Given the description of an element on the screen output the (x, y) to click on. 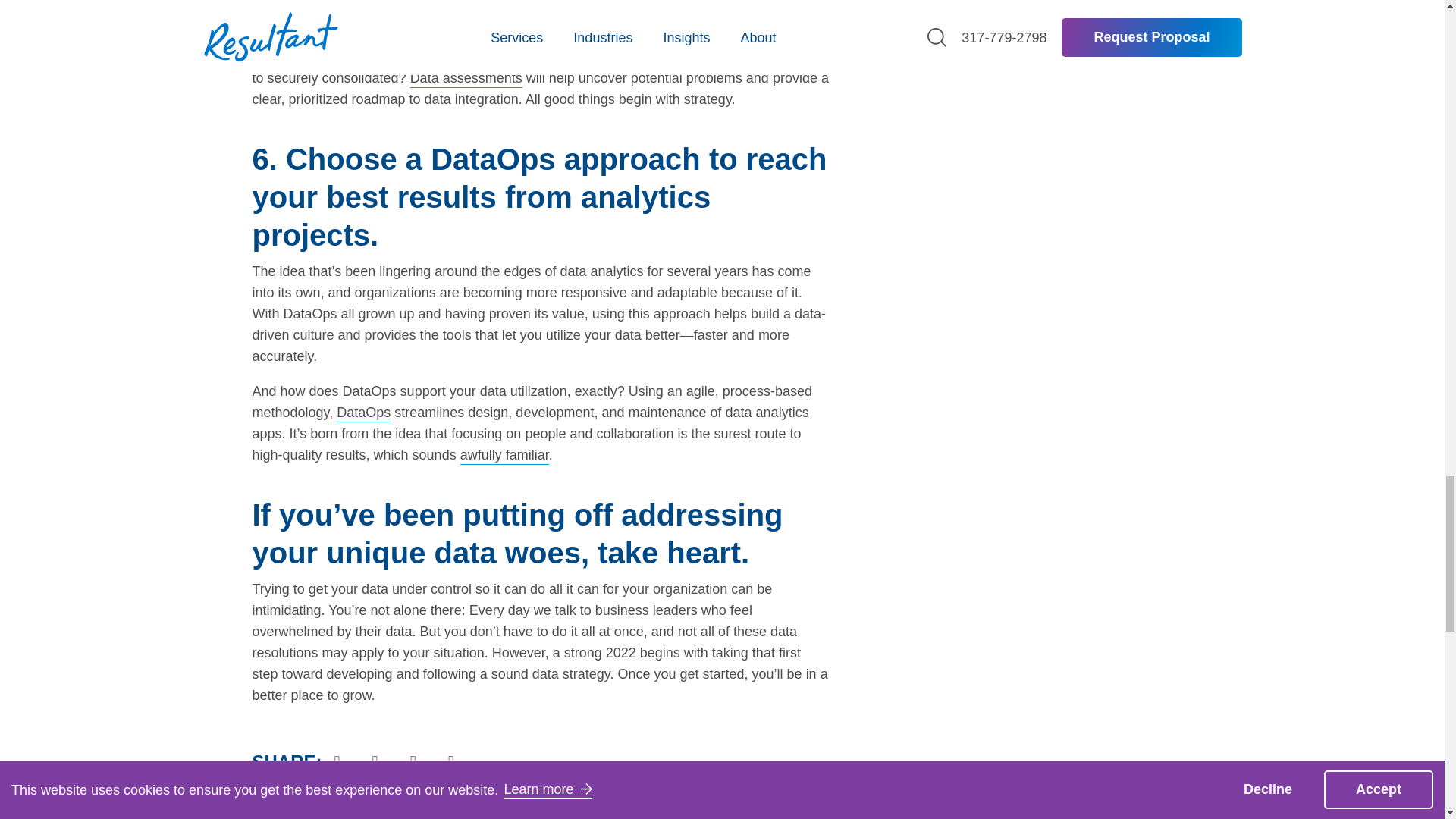
Share on LinkedIn (336, 759)
Share on Facebook (412, 759)
Share on Twitter (374, 759)
